Given the description of an element on the screen output the (x, y) to click on. 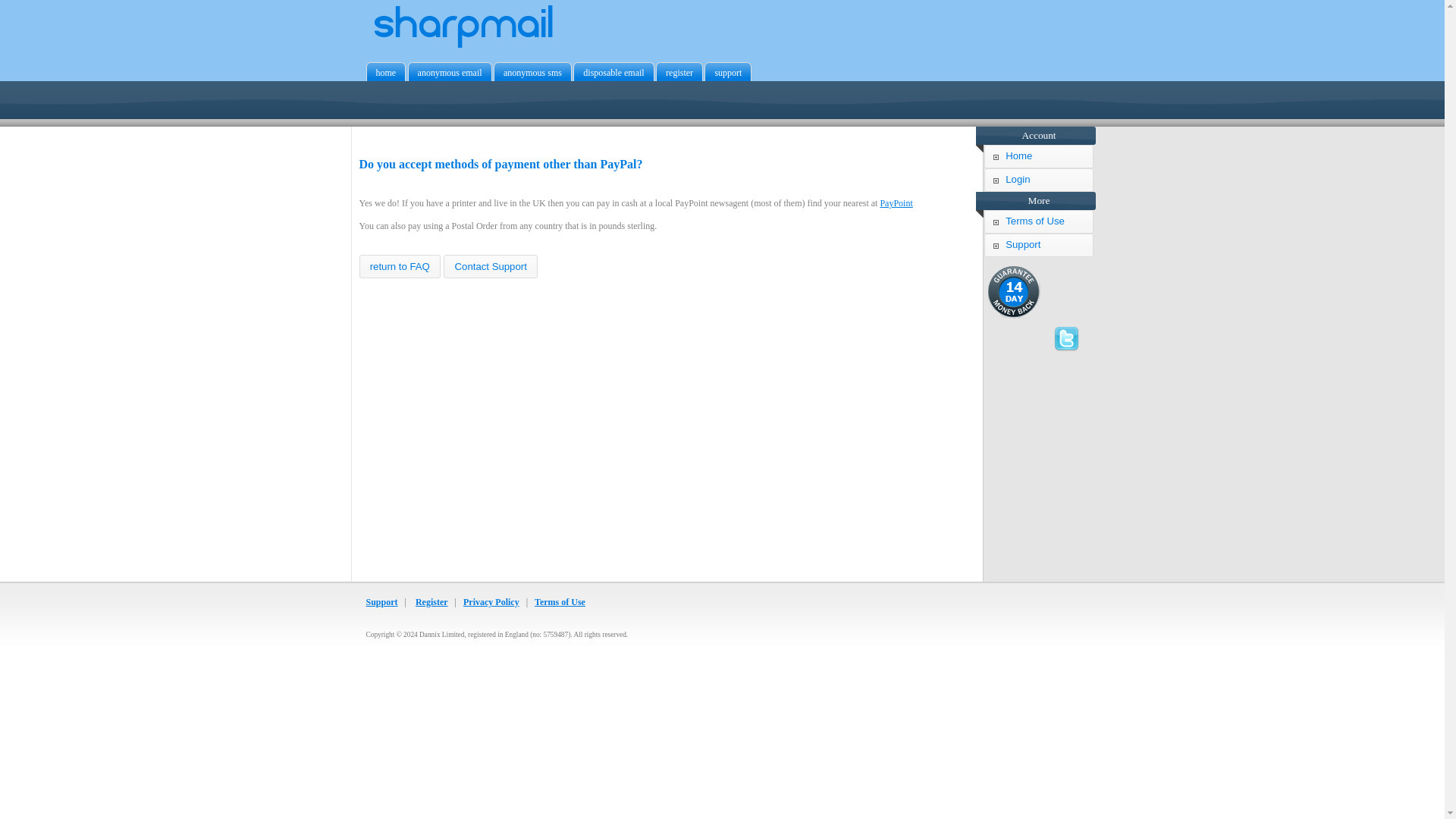
anonymous email (450, 73)
anonymous sms (532, 73)
Login (1038, 179)
PayPoint (895, 203)
Terms of Use (1038, 221)
Register (431, 602)
disposable email (612, 73)
Support (381, 602)
return to FAQ (400, 266)
Support (1038, 245)
Contact Support (490, 266)
register (678, 73)
Home (1038, 156)
Privacy Policy (491, 602)
home (386, 73)
